Given the description of an element on the screen output the (x, y) to click on. 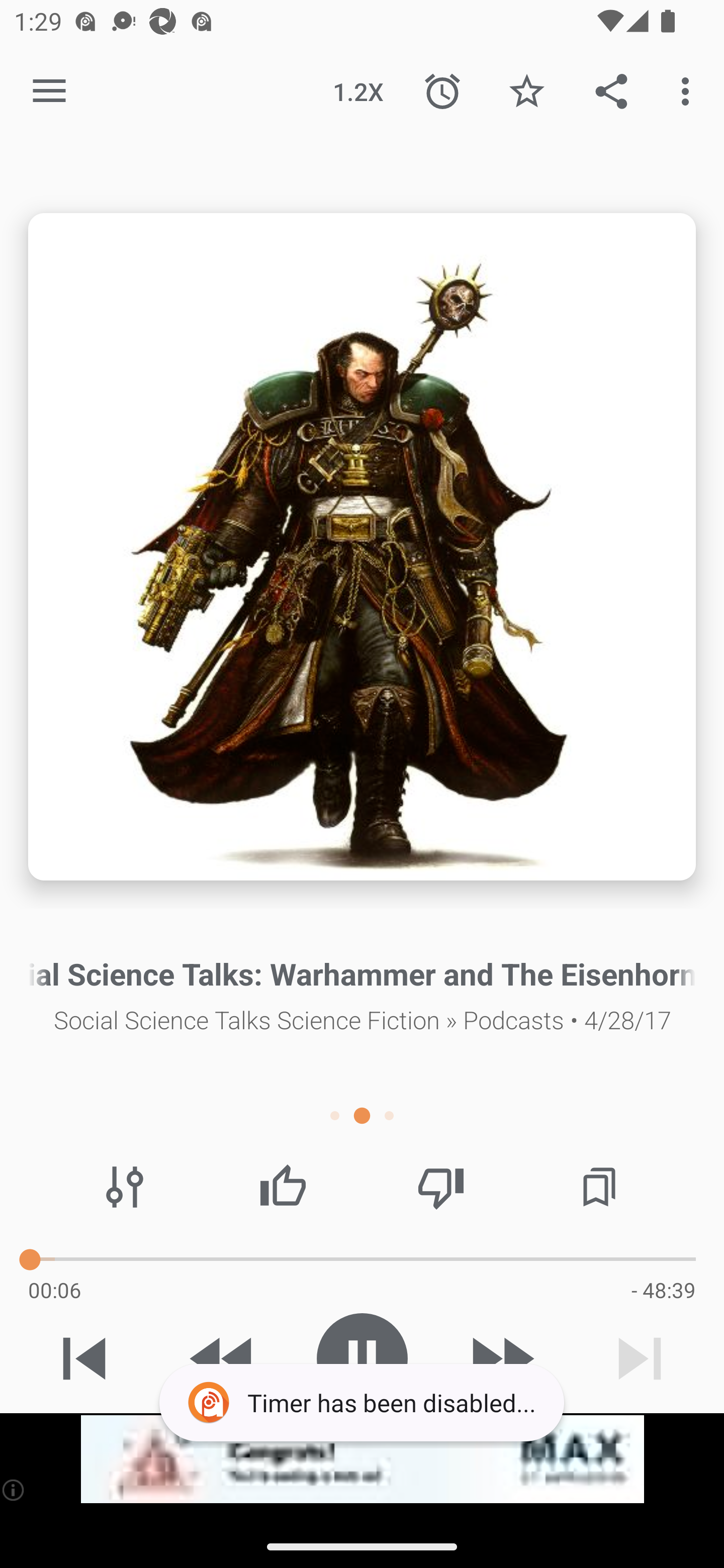
Open navigation sidebar (49, 91)
1.2X (357, 90)
Sleep Timer (442, 90)
Favorite (526, 90)
Share (611, 90)
More options (688, 90)
Episode description (361, 547)
Audio effects (124, 1186)
Thumbs up (283, 1186)
Thumbs down (440, 1186)
Chapters / Bookmarks (598, 1186)
- 48:39 (663, 1289)
Previous track (84, 1358)
Next track (639, 1358)
app-monetization (362, 1459)
(i) (14, 1489)
